Given the description of an element on the screen output the (x, y) to click on. 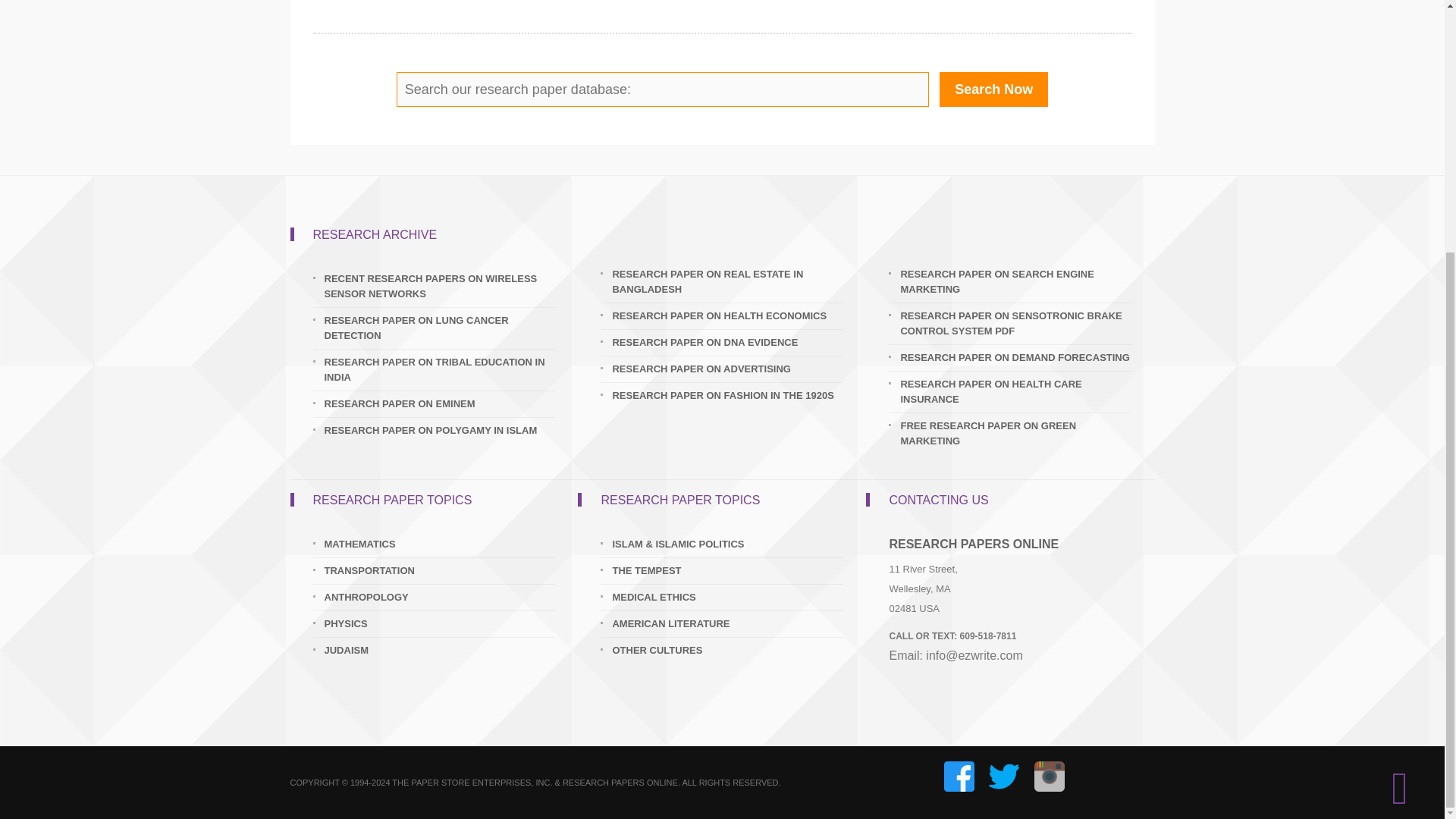
RESEARCH PAPER ON LUNG CANCER DETECTION (440, 327)
RESEARCH PAPER ON SEARCH ENGINE MARKETING (1015, 281)
RESEARCH PAPER ON POLYGAMY IN ISLAM (440, 430)
TRANSPORTATION (440, 570)
RESEARCH PAPER ON DNA EVIDENCE (727, 342)
JUDAISM (440, 650)
RECENT RESEARCH PAPERS ON WIRELESS SENSOR NETWORKS (440, 286)
RESEARCH PAPER ON DEMAND FORECASTING (1015, 357)
RESEARCH PAPER ON HEALTH CARE INSURANCE (1015, 391)
RESEARCH PAPER ON TRIBAL EDUCATION IN INDIA (440, 369)
research paper on tribal education in india (440, 369)
MATHEMATICS (440, 544)
RESEARCH PAPER ON FASHION IN THE 1920S (727, 395)
RESEARCH PAPER ON EMINEM (440, 403)
THE TEMPEST (727, 570)
